Given the description of an element on the screen output the (x, y) to click on. 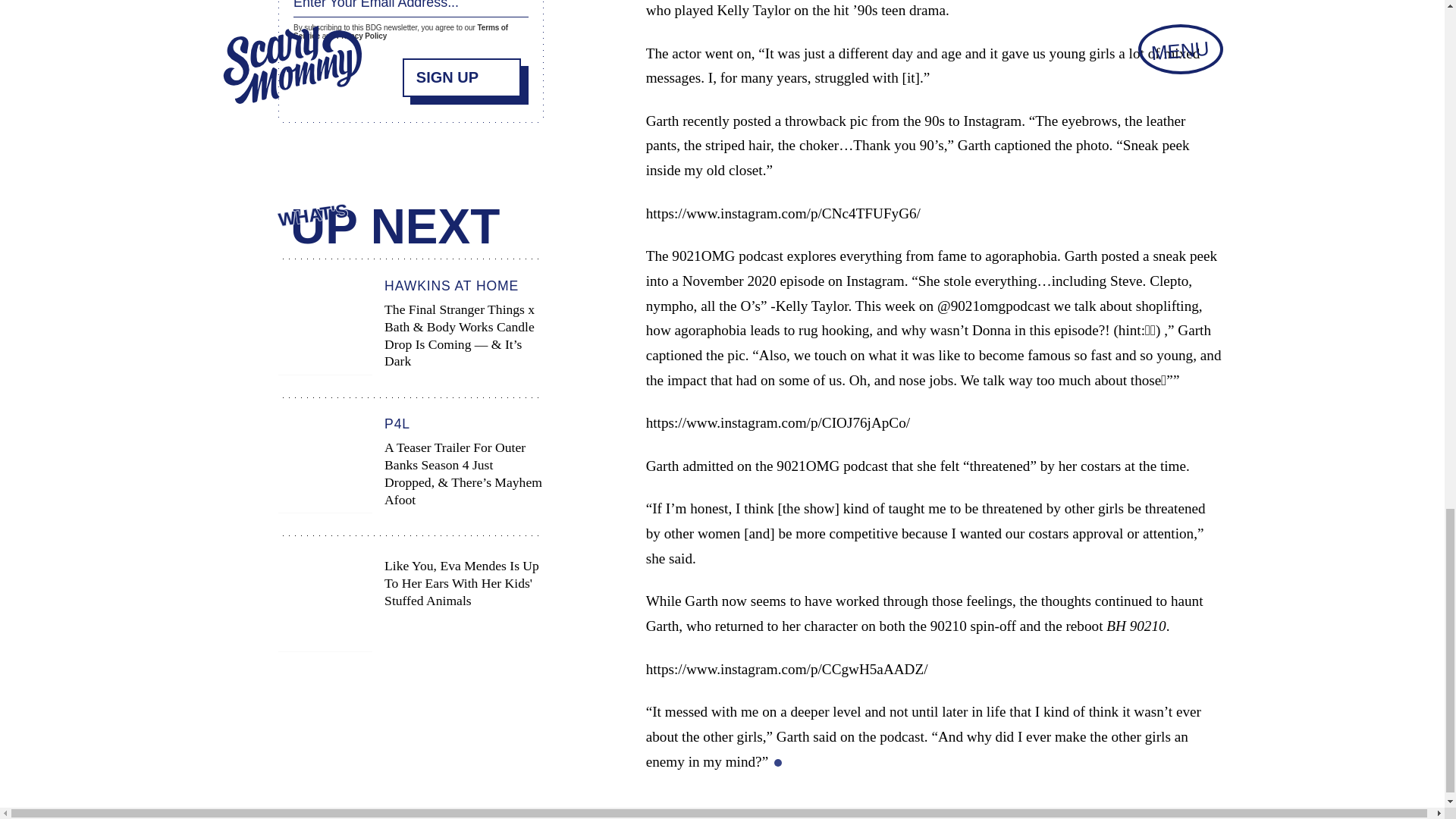
SIGN UP (462, 74)
Terms of Service (401, 29)
Privacy Policy (361, 34)
